Given the description of an element on the screen output the (x, y) to click on. 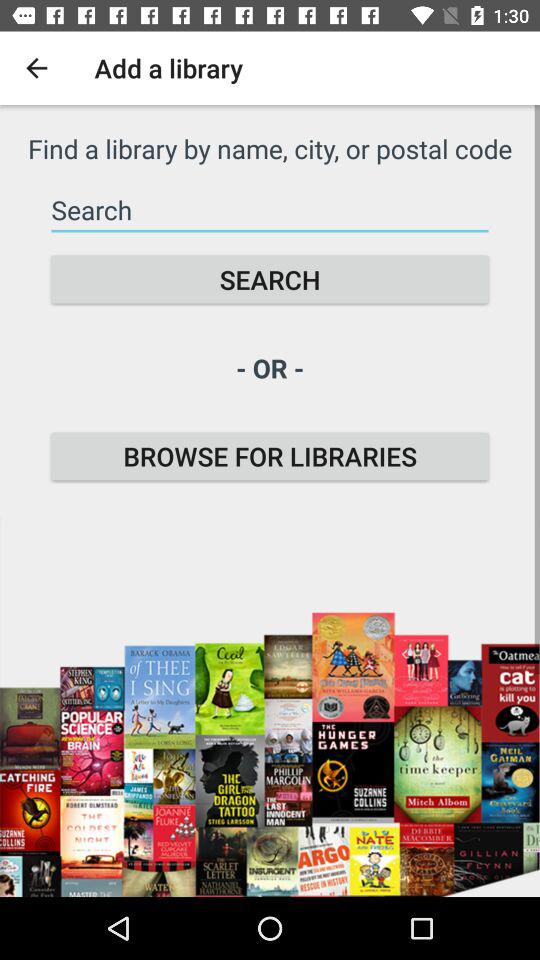
open the browse for libraries (269, 455)
